Given the description of an element on the screen output the (x, y) to click on. 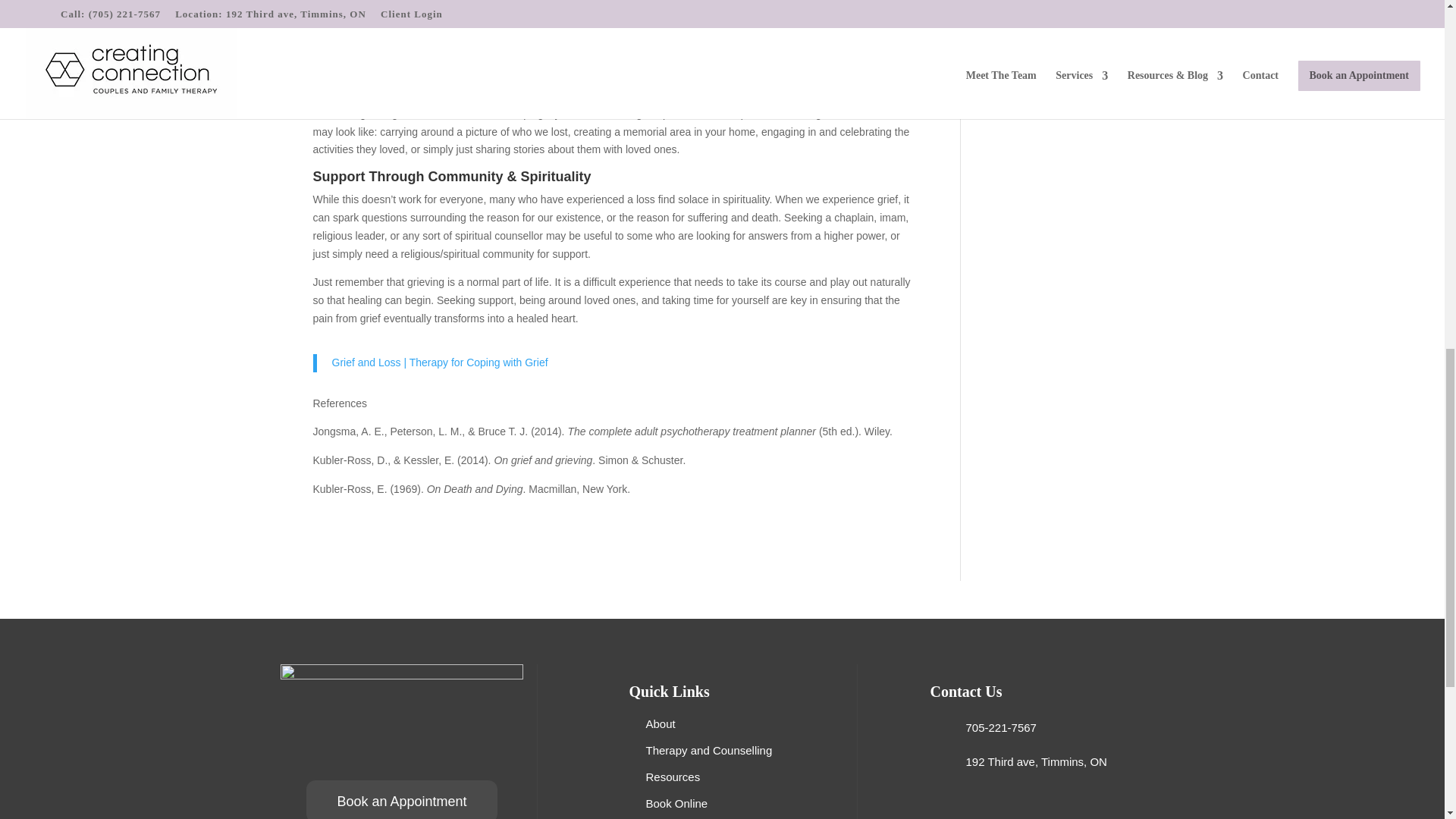
About (660, 723)
CC-logo-REV-transparent-img-2236 (401, 718)
Book an Appointment (400, 799)
Therapy and Counselling (709, 749)
